Given the description of an element on the screen output the (x, y) to click on. 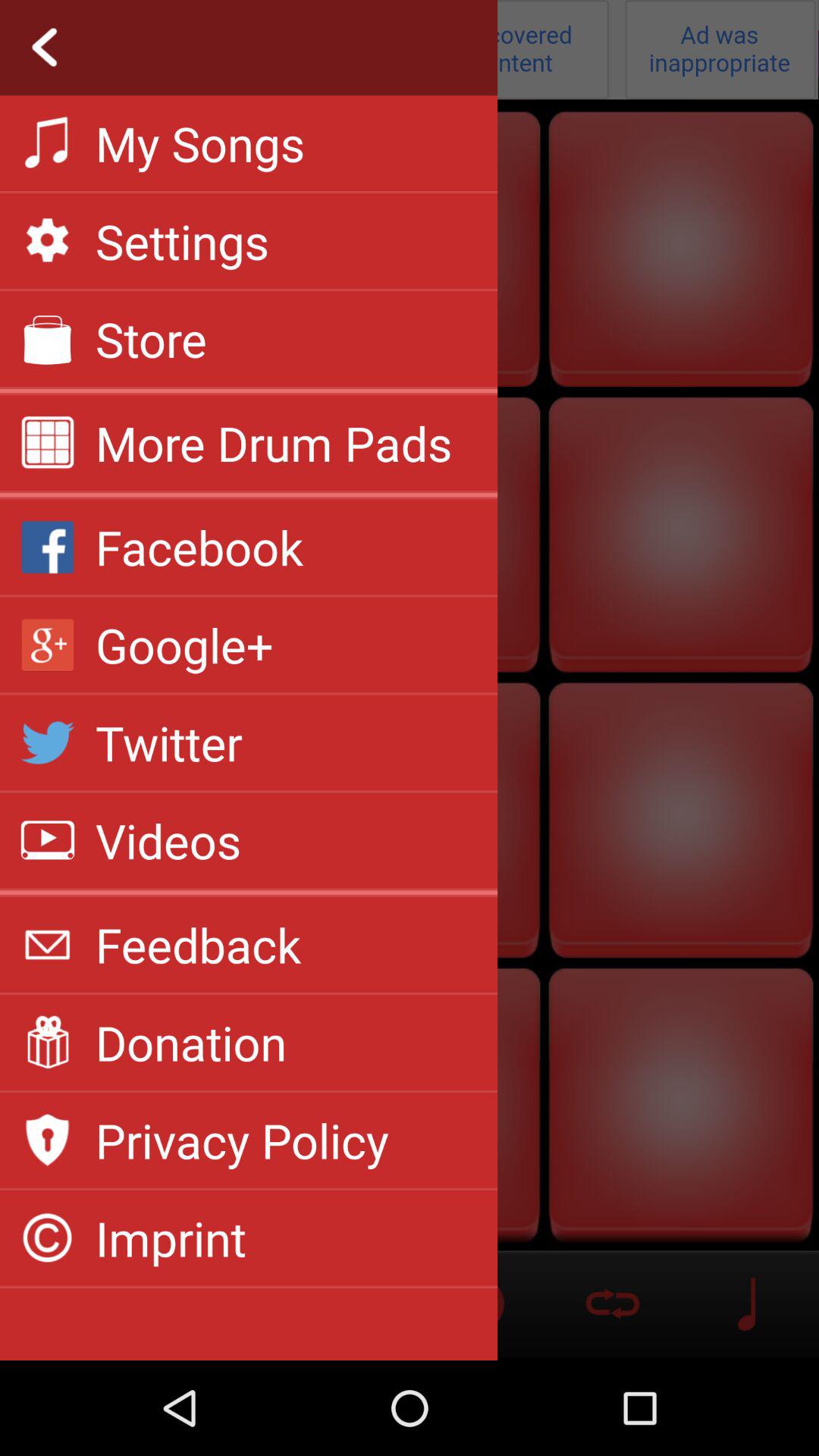
jump until the twitter (168, 742)
